Given the description of an element on the screen output the (x, y) to click on. 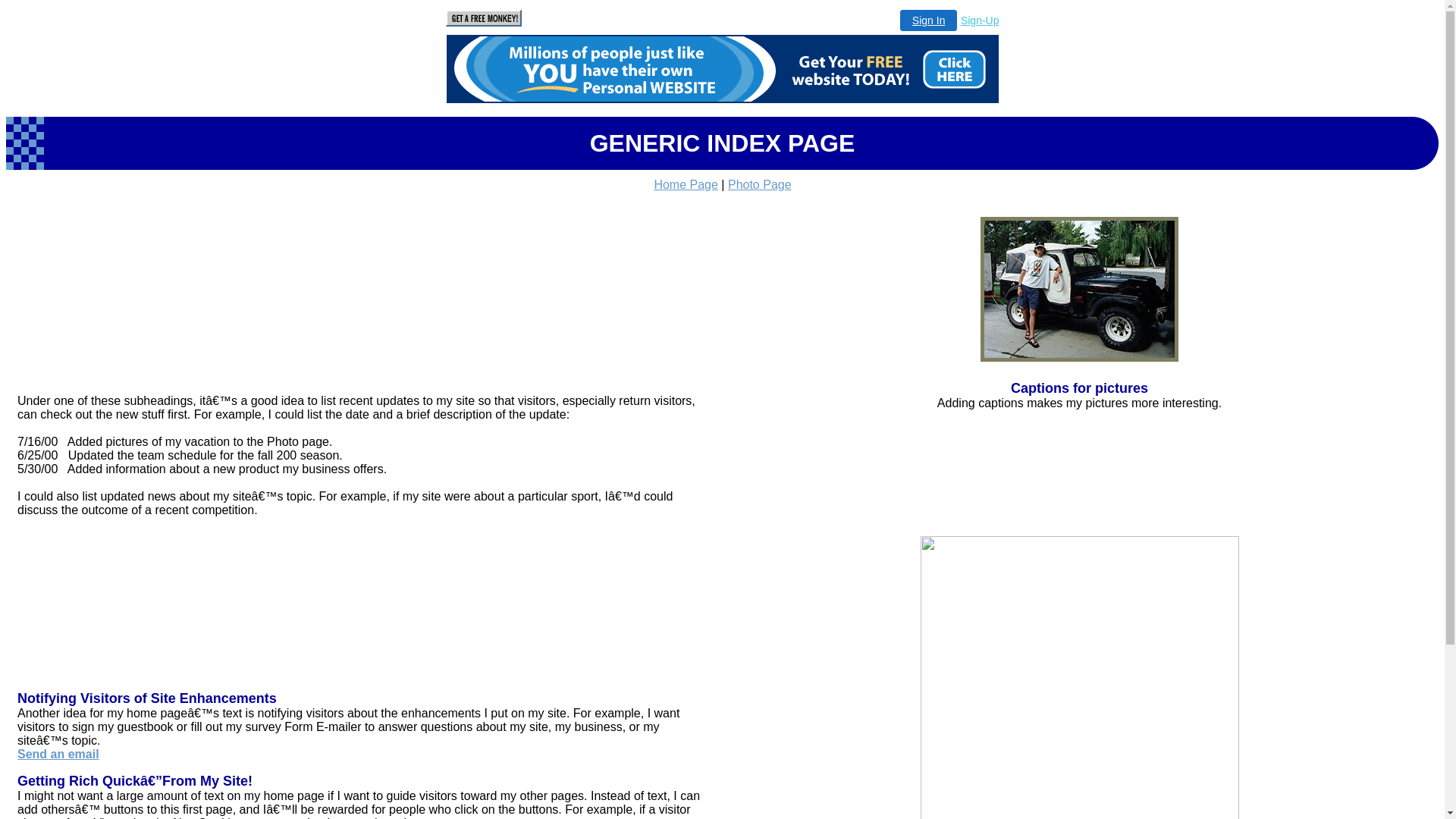
Home Page Element type: text (685, 184)
Sign-Up Element type: text (979, 20)
Sign In Element type: text (928, 20)
Send an email Element type: text (58, 753)
Photo Page Element type: text (759, 184)
